Given the description of an element on the screen output the (x, y) to click on. 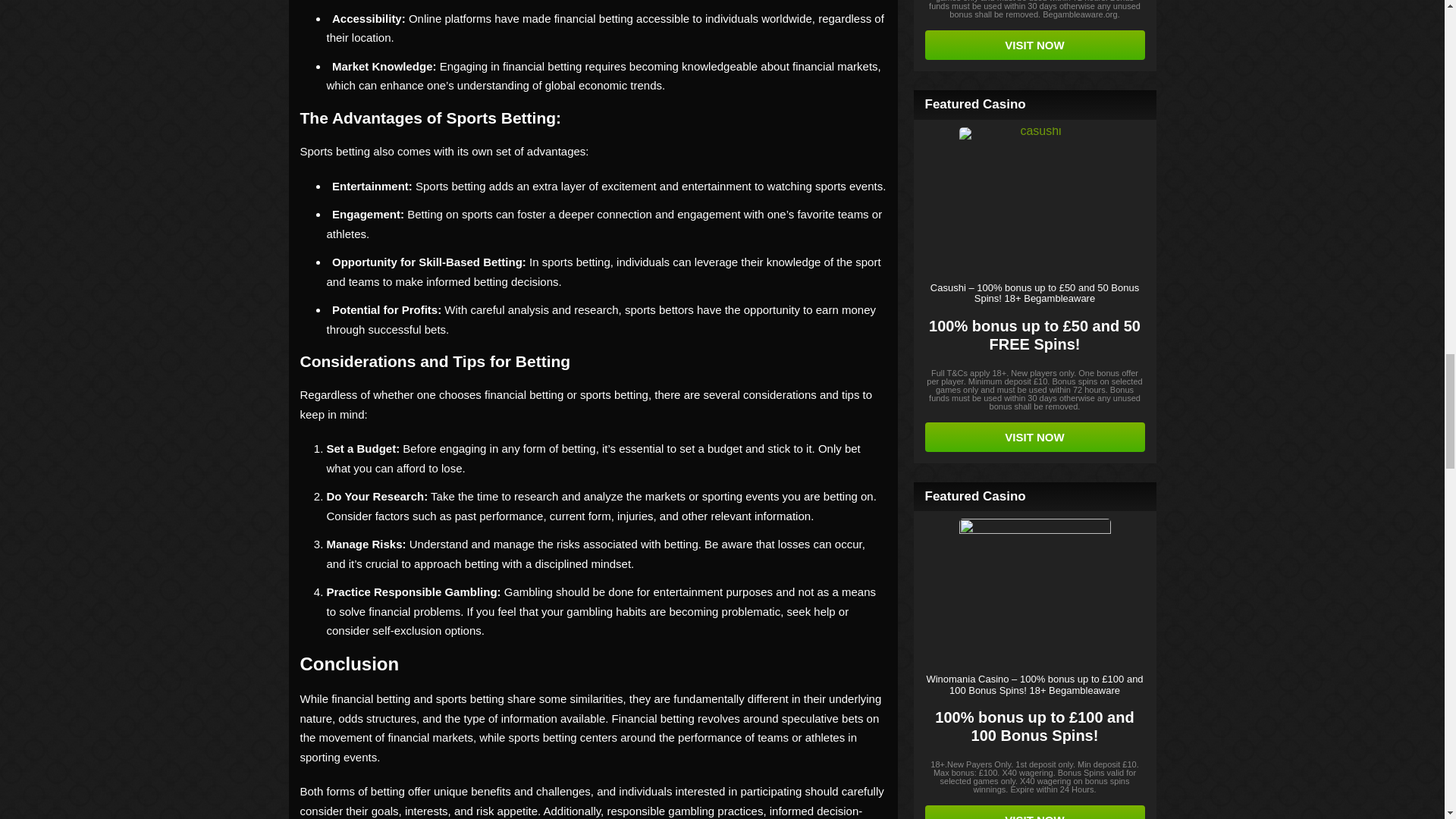
VISIT NOW (1034, 437)
VISIT NOW (1034, 44)
